Given the description of an element on the screen output the (x, y) to click on. 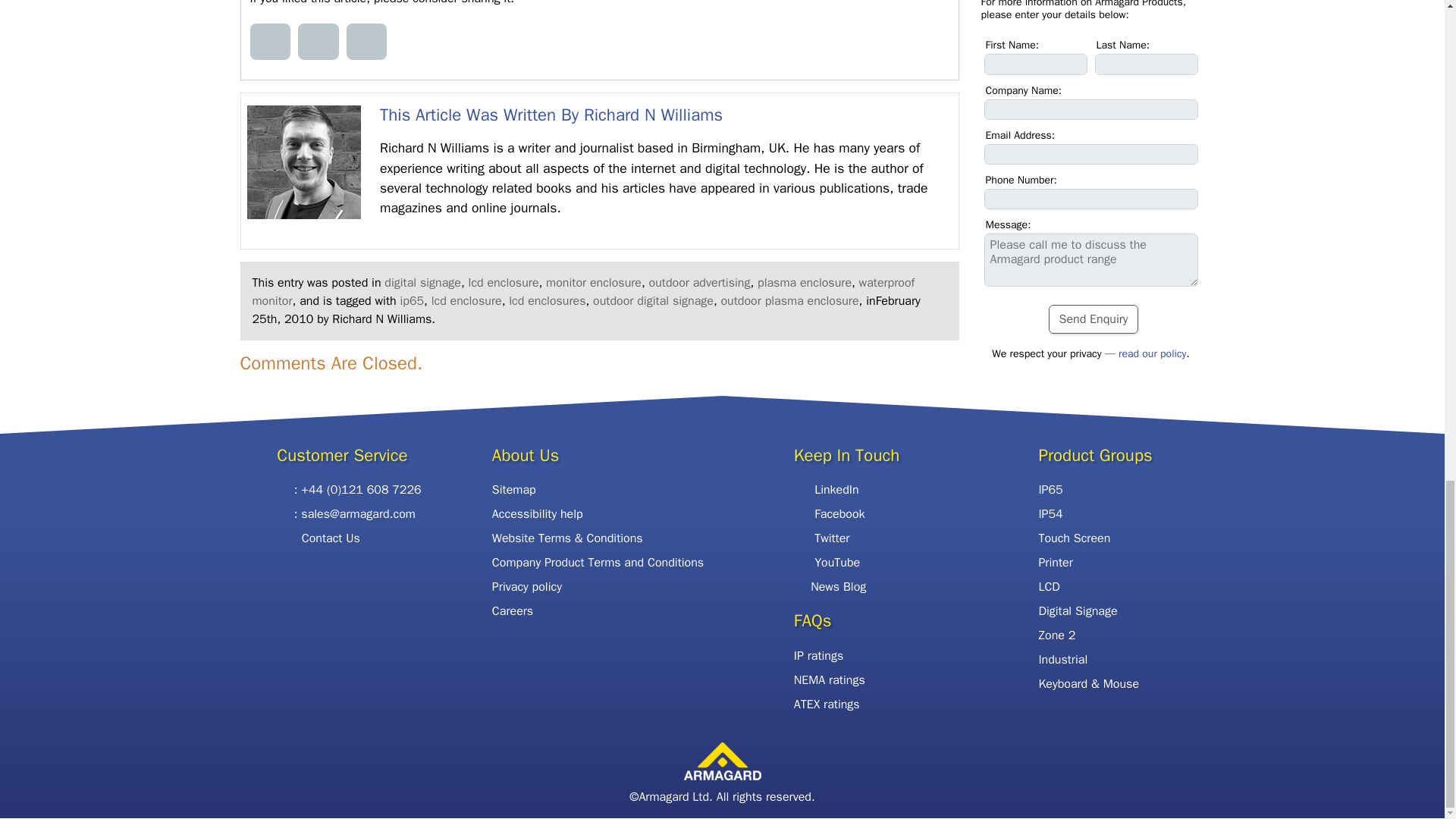
Richard N Williams (652, 115)
digital signage (422, 282)
lcd enclosure (503, 282)
monitor enclosure (594, 282)
